Given the description of an element on the screen output the (x, y) to click on. 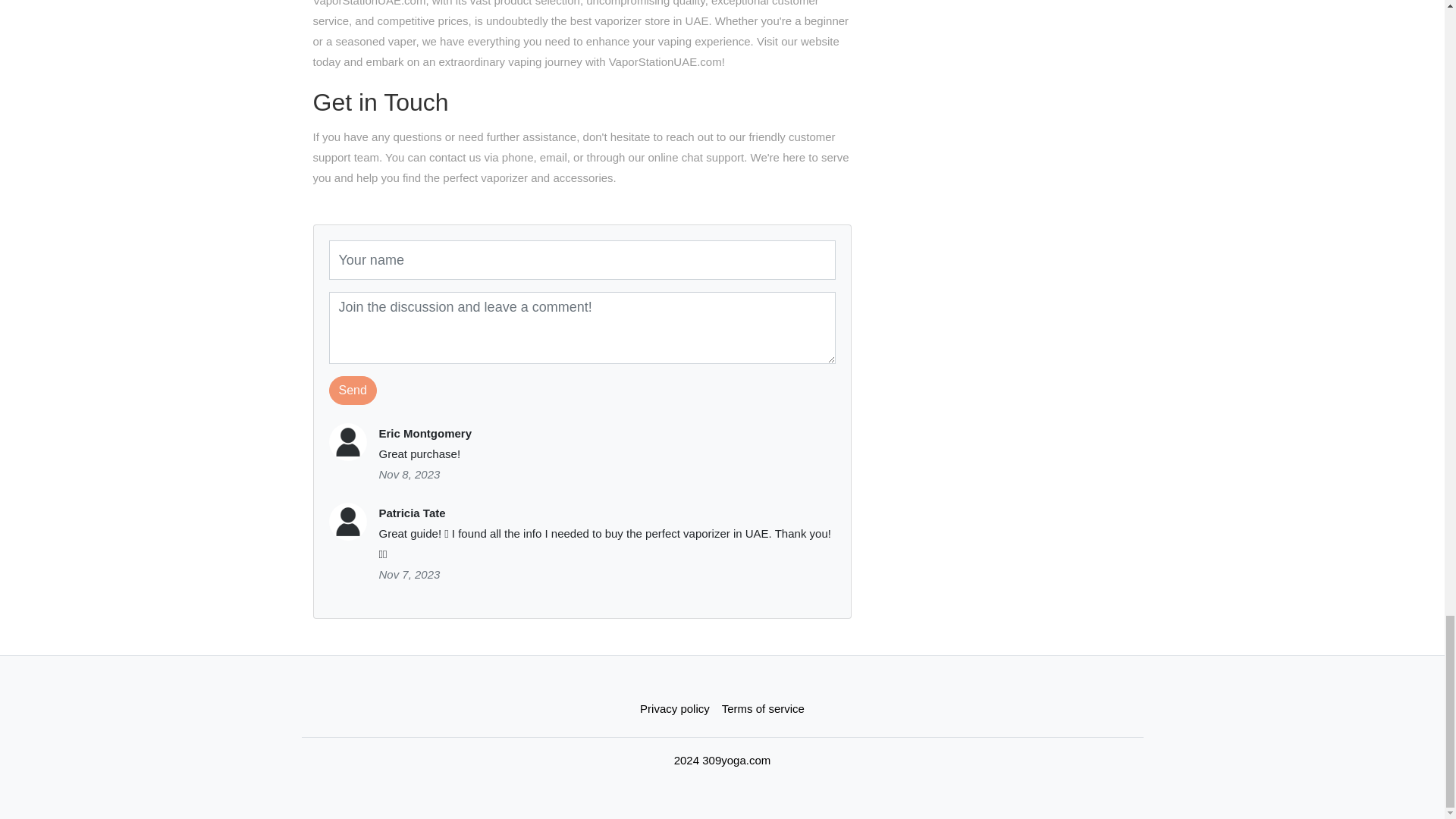
Send (353, 389)
Send (353, 389)
Terms of service (763, 708)
Privacy policy (674, 708)
